Given the description of an element on the screen output the (x, y) to click on. 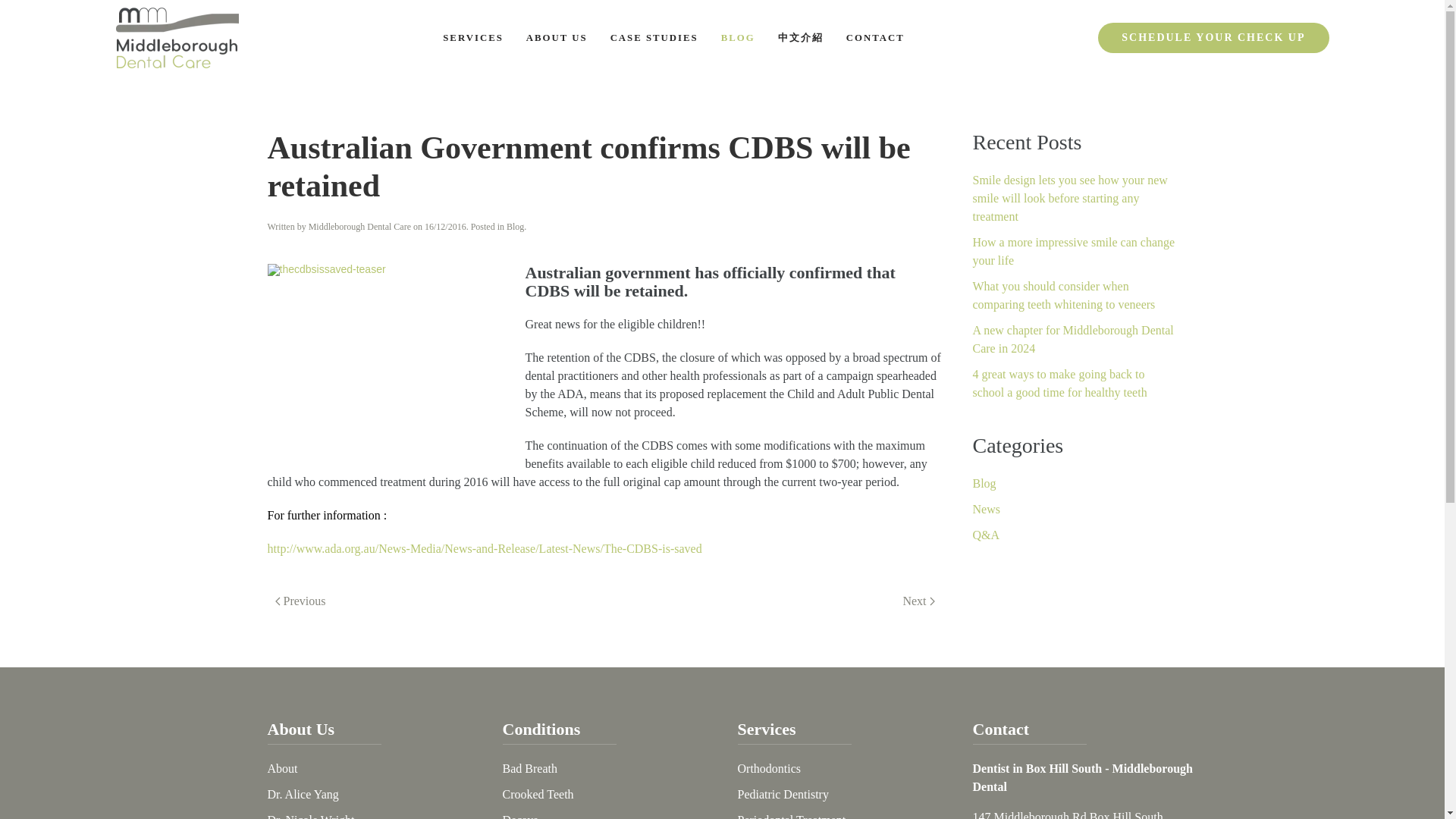
Blog (983, 482)
News (985, 508)
Dr. Alice Yang (301, 793)
About Us (300, 728)
A new chapter for Middleborough Dental Care in 2024 (1072, 338)
Dr. Nicole Wright (309, 816)
Previous (299, 601)
Middleborough Dental Care (359, 226)
CASE STUDIES (654, 37)
How a more impressive smile can change your life (1073, 250)
SCHEDULE YOUR CHECK UP (1212, 37)
Next (918, 601)
Blog (515, 226)
